Given the description of an element on the screen output the (x, y) to click on. 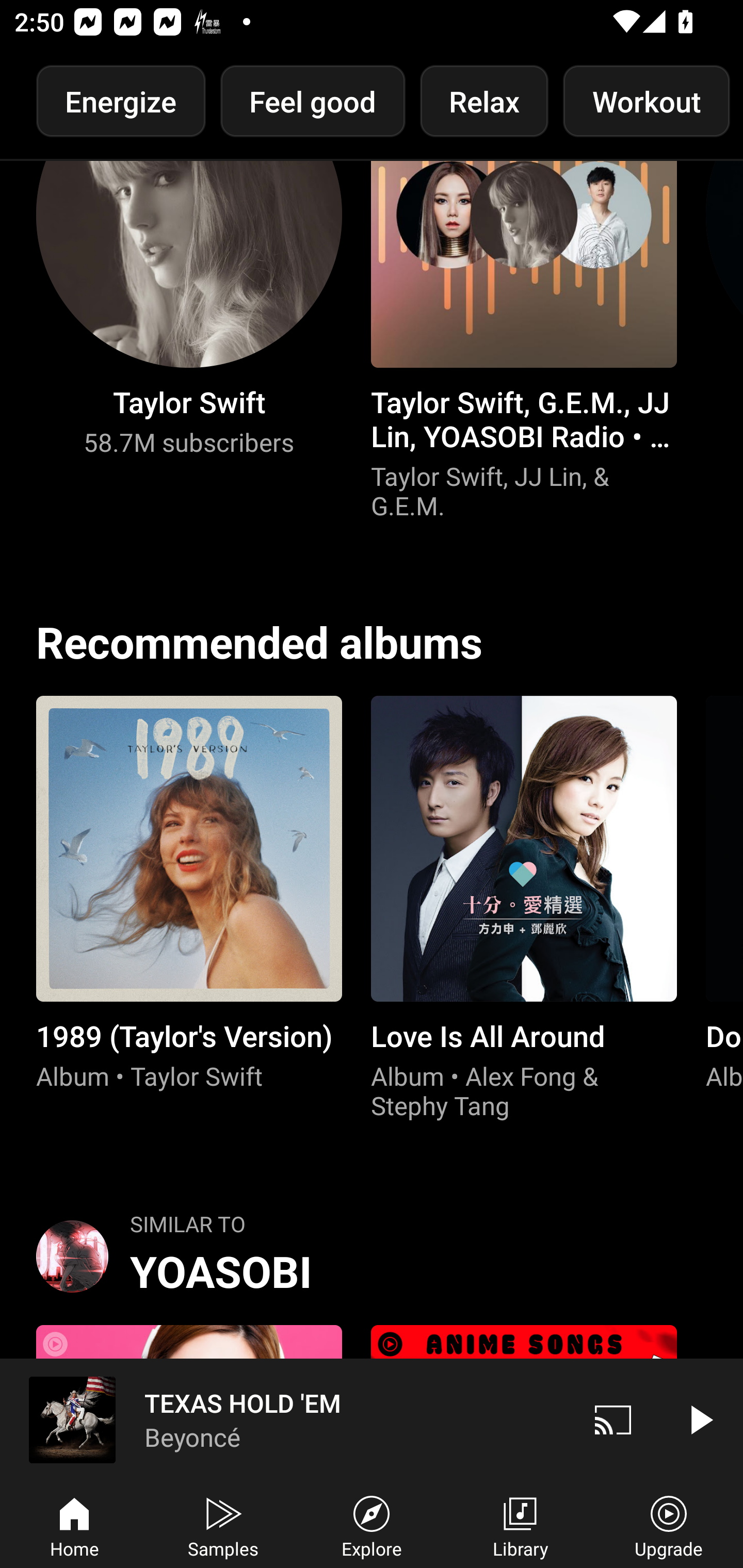
TEXAS HOLD 'EM Beyoncé (284, 1419)
Cast. Disconnected (612, 1419)
Play video (699, 1419)
Home (74, 1524)
Samples (222, 1524)
Explore (371, 1524)
Library (519, 1524)
Upgrade (668, 1524)
